Given the description of an element on the screen output the (x, y) to click on. 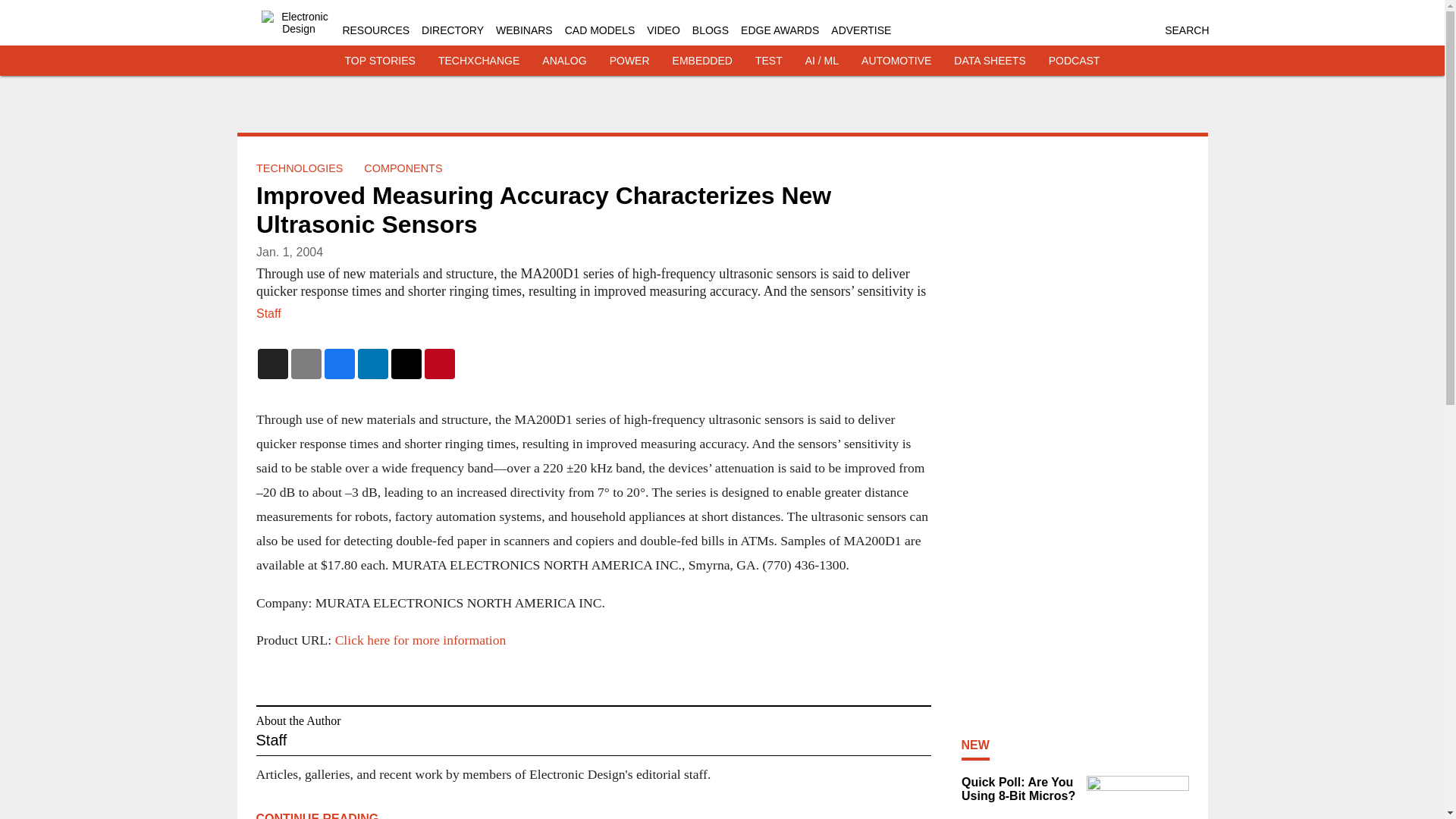
TOP STORIES (379, 60)
SEARCH (1186, 30)
WEBINARS (524, 30)
ANALOG (563, 60)
Click here for more information (419, 639)
TECHXCHANGE (478, 60)
BLOGS (711, 30)
DATA SHEETS (989, 60)
AUTOMOTIVE (896, 60)
Staff (268, 313)
